Given the description of an element on the screen output the (x, y) to click on. 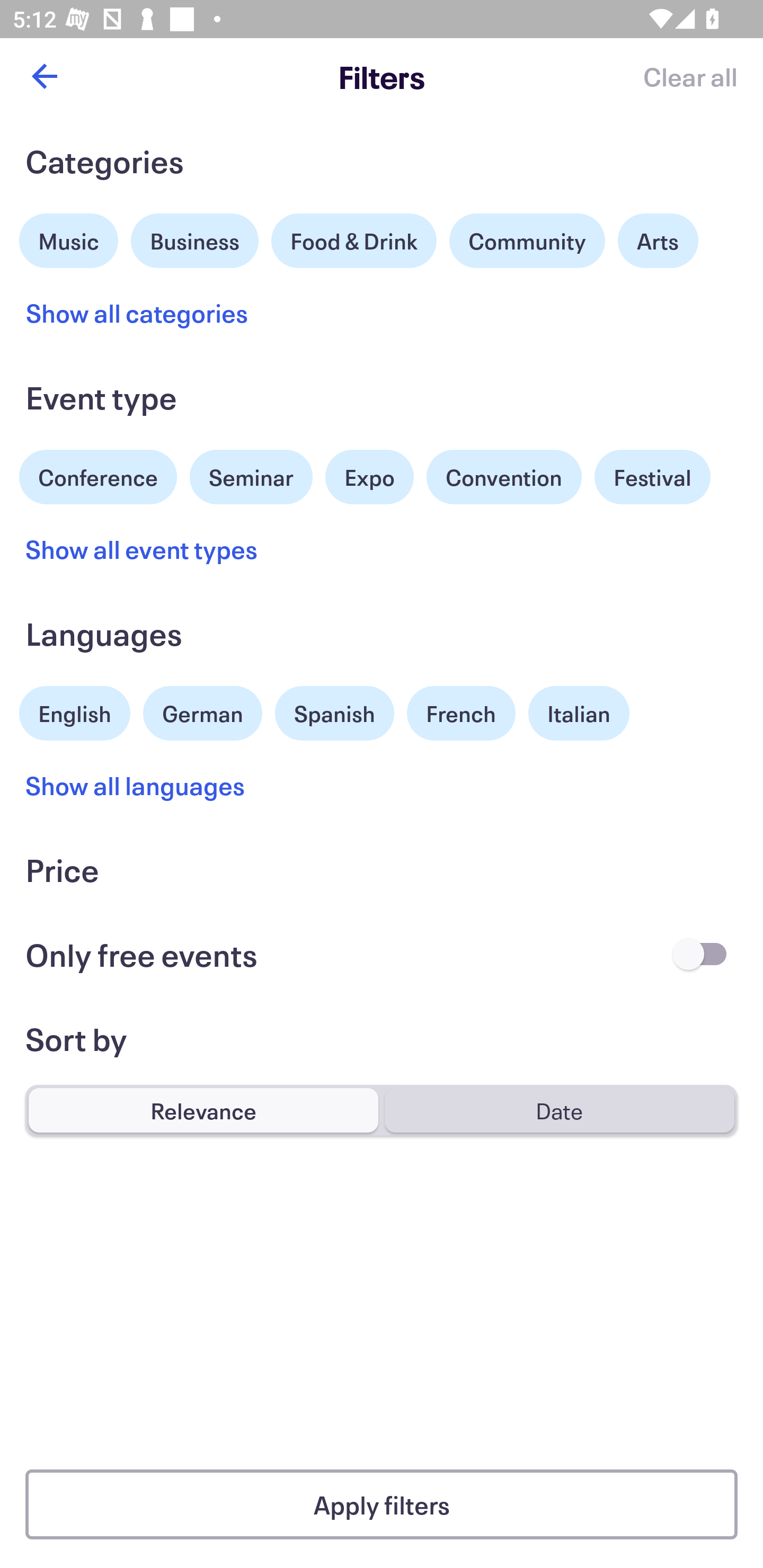
Back button (44, 75)
Clear all (690, 75)
Music (68, 238)
Business (194, 238)
Food & Drink (353, 240)
Community (527, 240)
Arts (658, 240)
Show all categories (136, 312)
Conference (98, 475)
Seminar (250, 477)
Expo (369, 477)
Convention (503, 477)
Festival (652, 477)
Show all event types (141, 548)
English (74, 710)
German (202, 710)
Spanish (334, 713)
French (460, 713)
Italian (578, 713)
Show all languages (135, 784)
Relevance (203, 1109)
Date (559, 1109)
Apply filters (381, 1504)
